Given the description of an element on the screen output the (x, y) to click on. 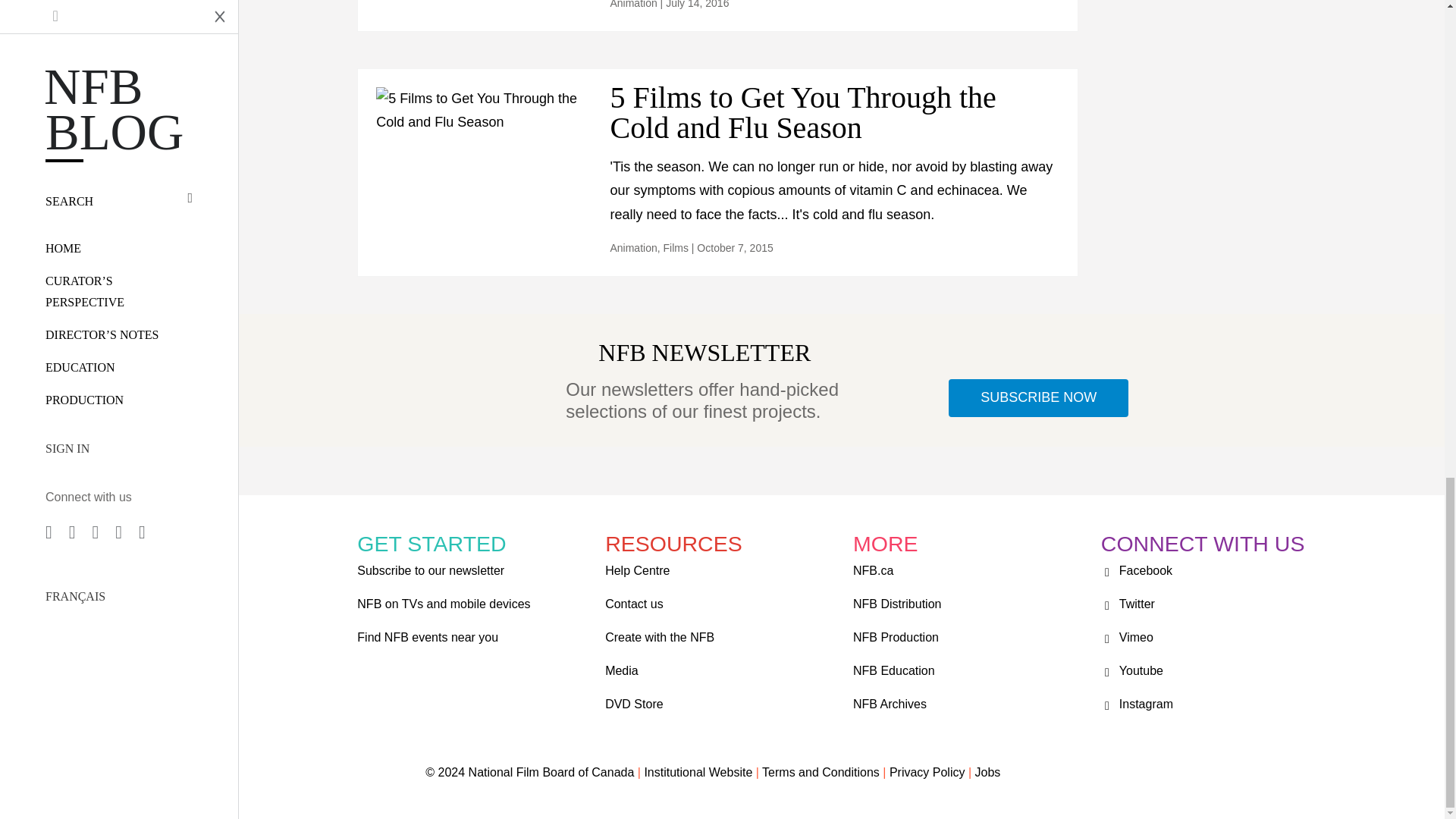
Youtube (1131, 670)
Twitter (1127, 603)
Facebook (1136, 570)
Vimeo (1126, 636)
